Given the description of an element on the screen output the (x, y) to click on. 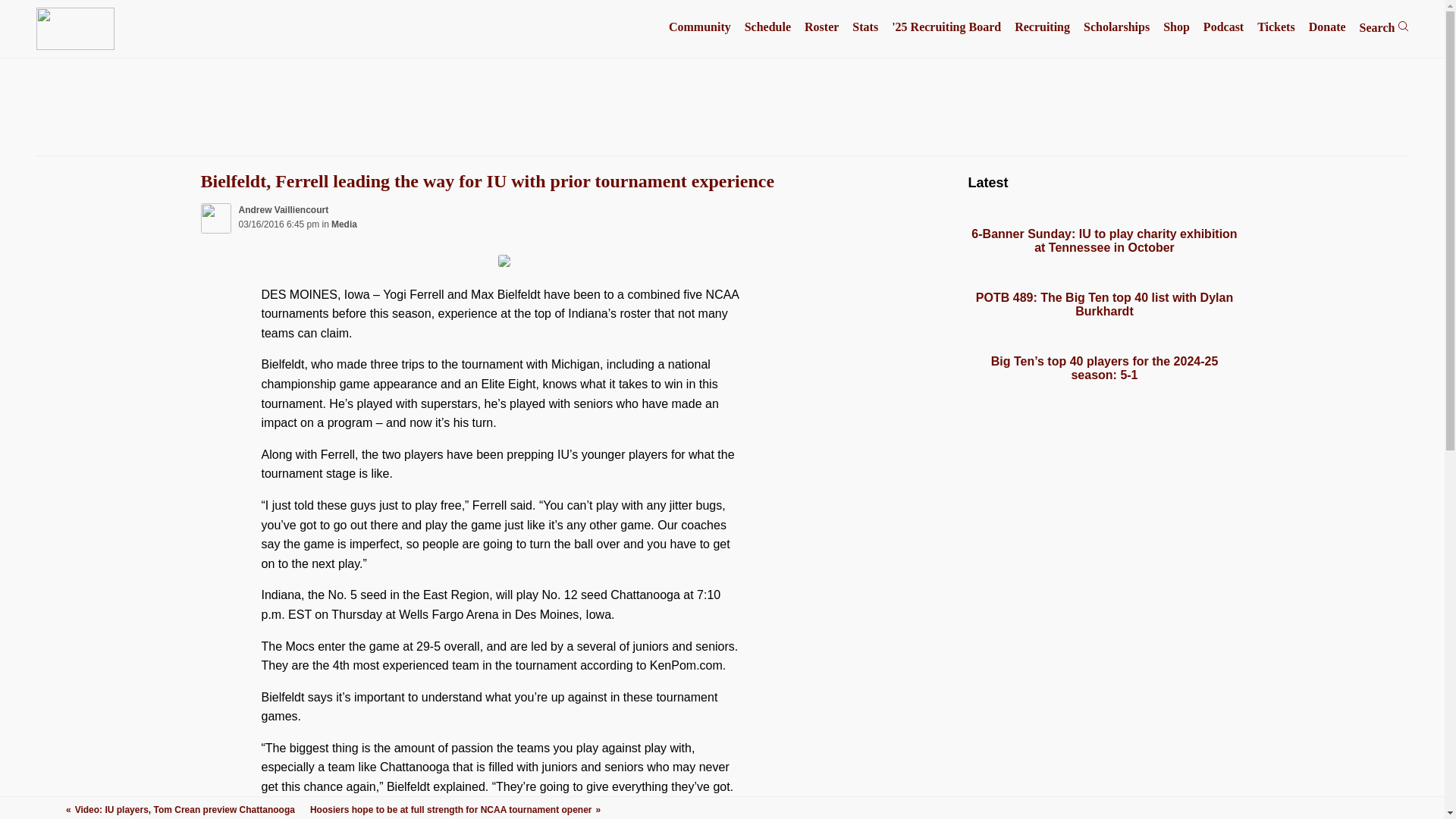
Shop (1176, 26)
'25 Recruiting Board (946, 26)
Search search (1384, 27)
Scholarships (1116, 26)
Video: IU players, Tom Crean preview Chattanooga (180, 809)
POTB 489: The Big Ten top 40 list with Dylan Burkhardt (1104, 304)
Podcast (1223, 26)
Roster (821, 26)
